Given the description of an element on the screen output the (x, y) to click on. 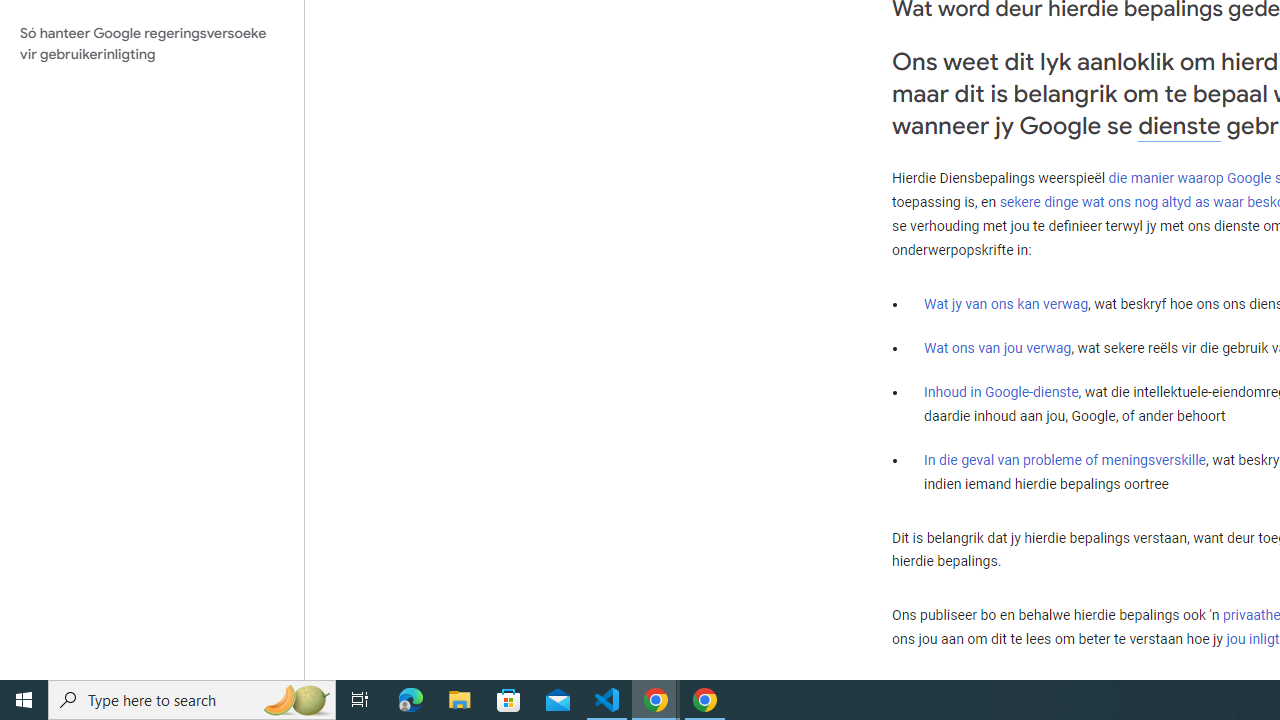
Wat jy van ons kan verwag (1006, 304)
In die geval van probleme of meningsverskille (1064, 459)
Inhoud in Google-dienste (1001, 392)
dienste (1179, 125)
Wat ons van jou verwag (998, 348)
